Given the description of an element on the screen output the (x, y) to click on. 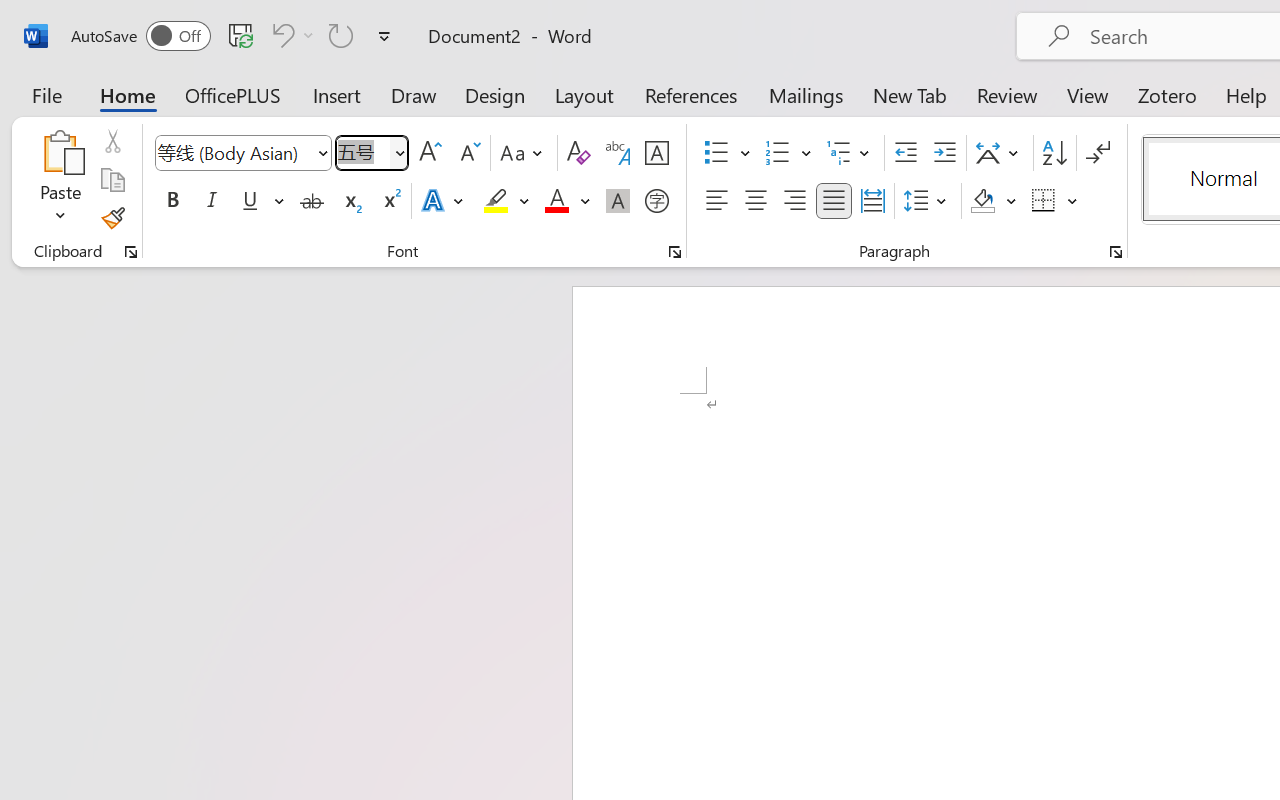
Review (1007, 94)
Show/Hide Editing Marks (1098, 153)
AutoSave (140, 35)
Text Highlight Color (506, 201)
Mailings (806, 94)
Decrease Indent (906, 153)
Numbering (778, 153)
Font... (675, 252)
Save (241, 35)
Bullets (727, 153)
Underline (250, 201)
Strikethrough (312, 201)
Line and Paragraph Spacing (927, 201)
Home (127, 94)
Paste (60, 151)
